Given the description of an element on the screen output the (x, y) to click on. 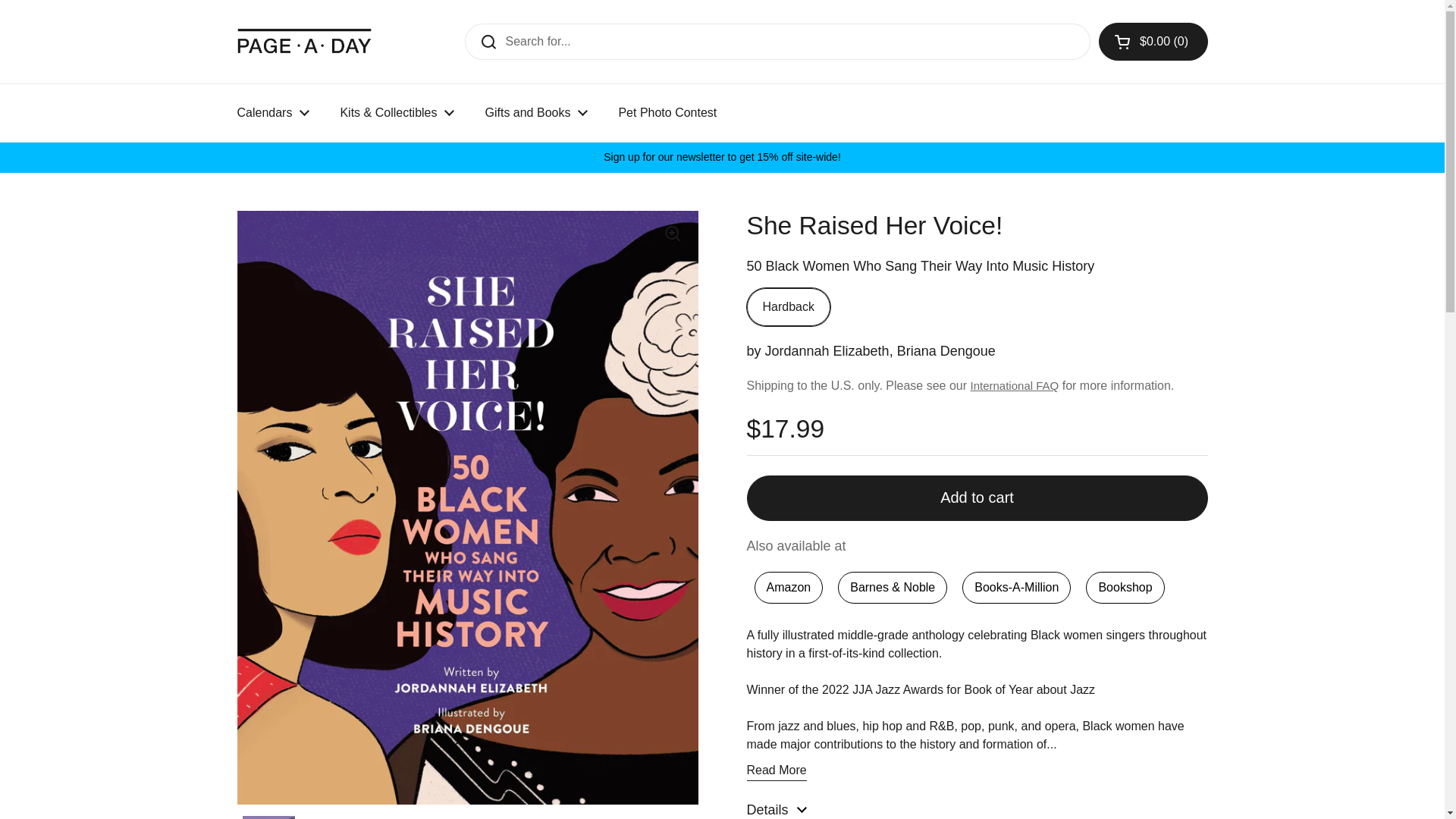
Gifts and Books (535, 112)
Page-A-Day (303, 41)
Calendars (272, 112)
Open cart (1153, 41)
